Given the description of an element on the screen output the (x, y) to click on. 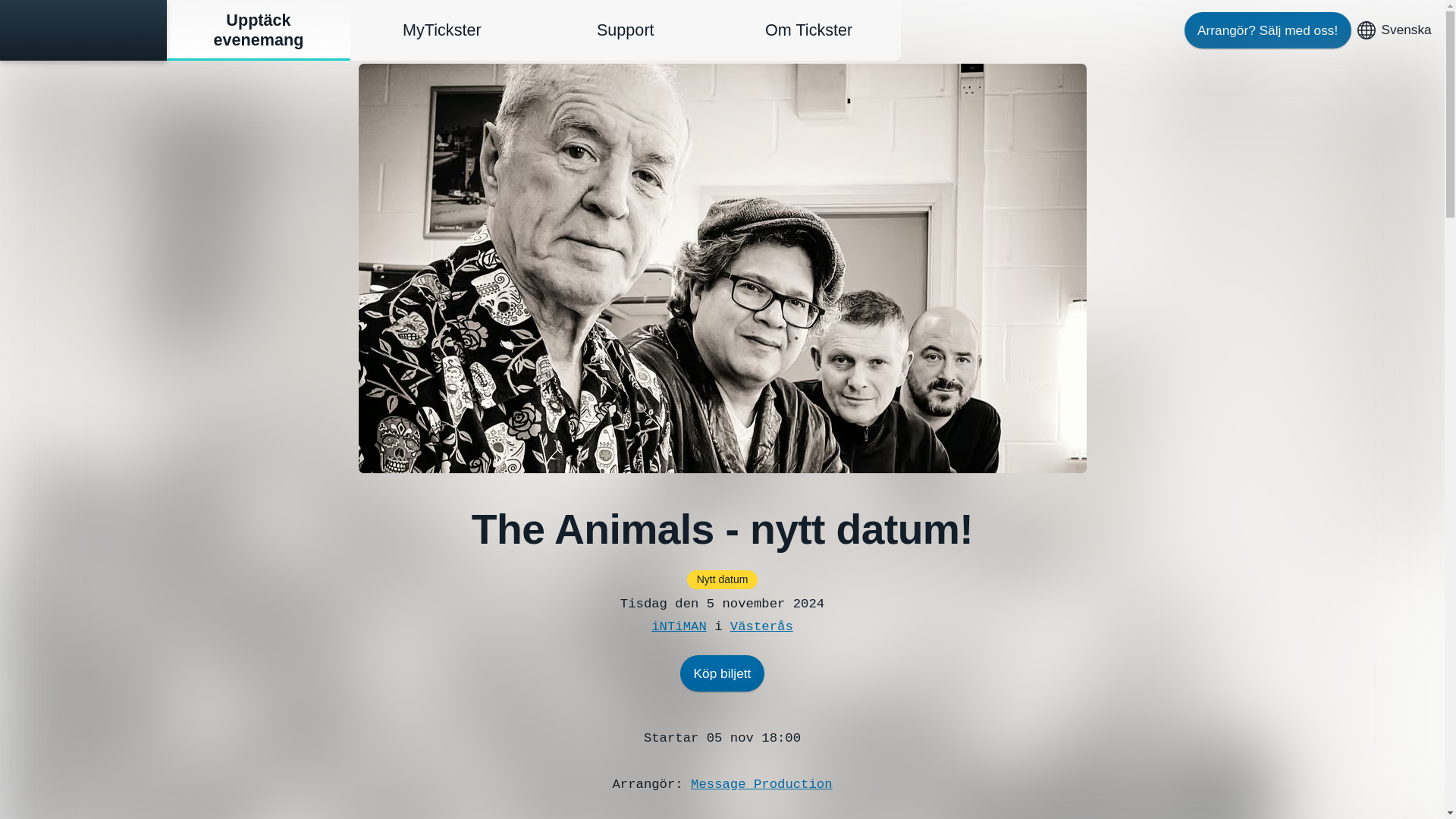
Svenska (1391, 30)
Support (625, 30)
Message Production (761, 784)
Om Tickster (809, 30)
MyTickster (442, 30)
iNTiMAN (678, 626)
